Given the description of an element on the screen output the (x, y) to click on. 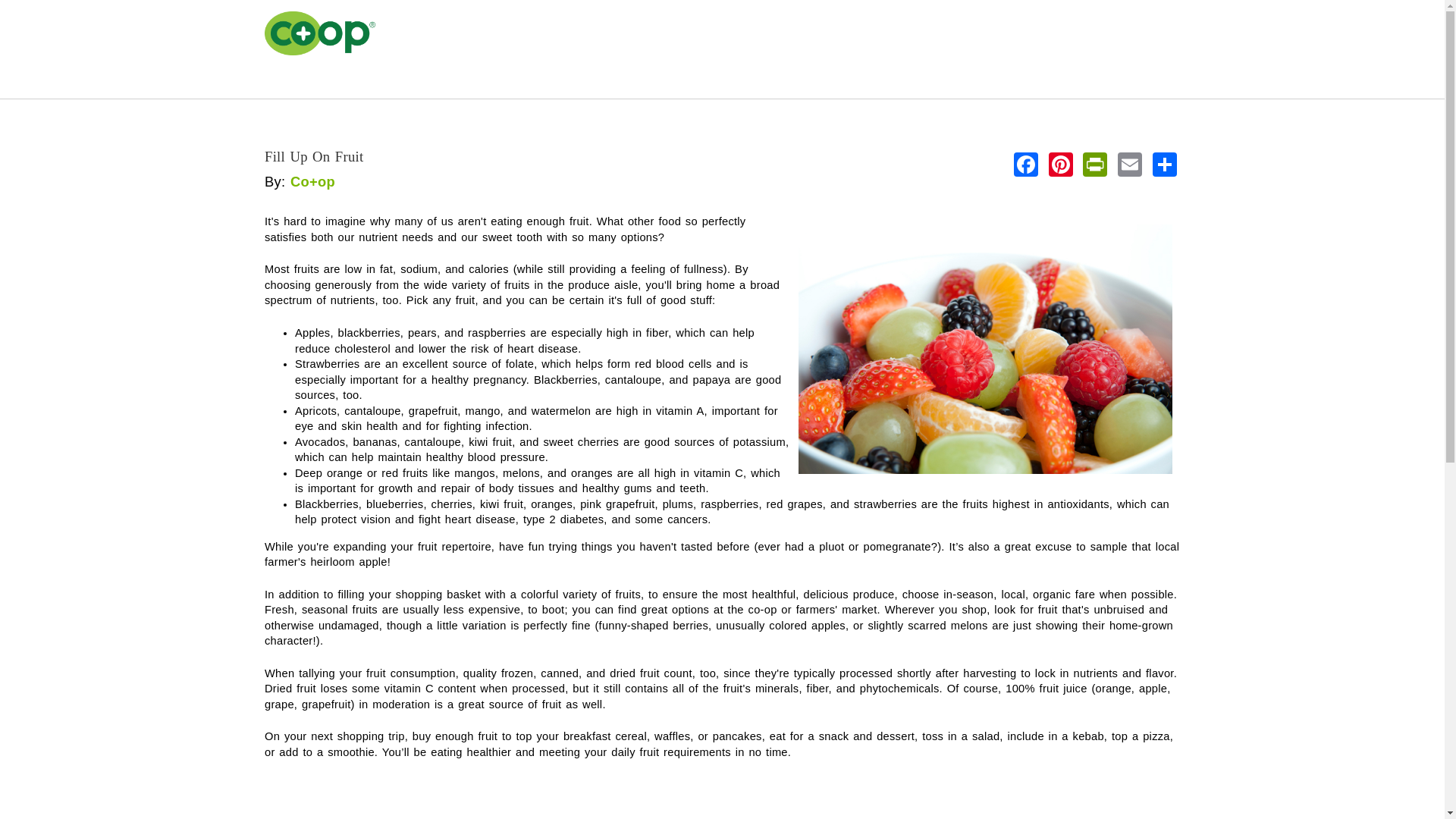
PrintFriendly (1094, 162)
Email (1129, 162)
Home page (269, 87)
Pinterest (1060, 162)
Facebook (1025, 162)
